Given the description of an element on the screen output the (x, y) to click on. 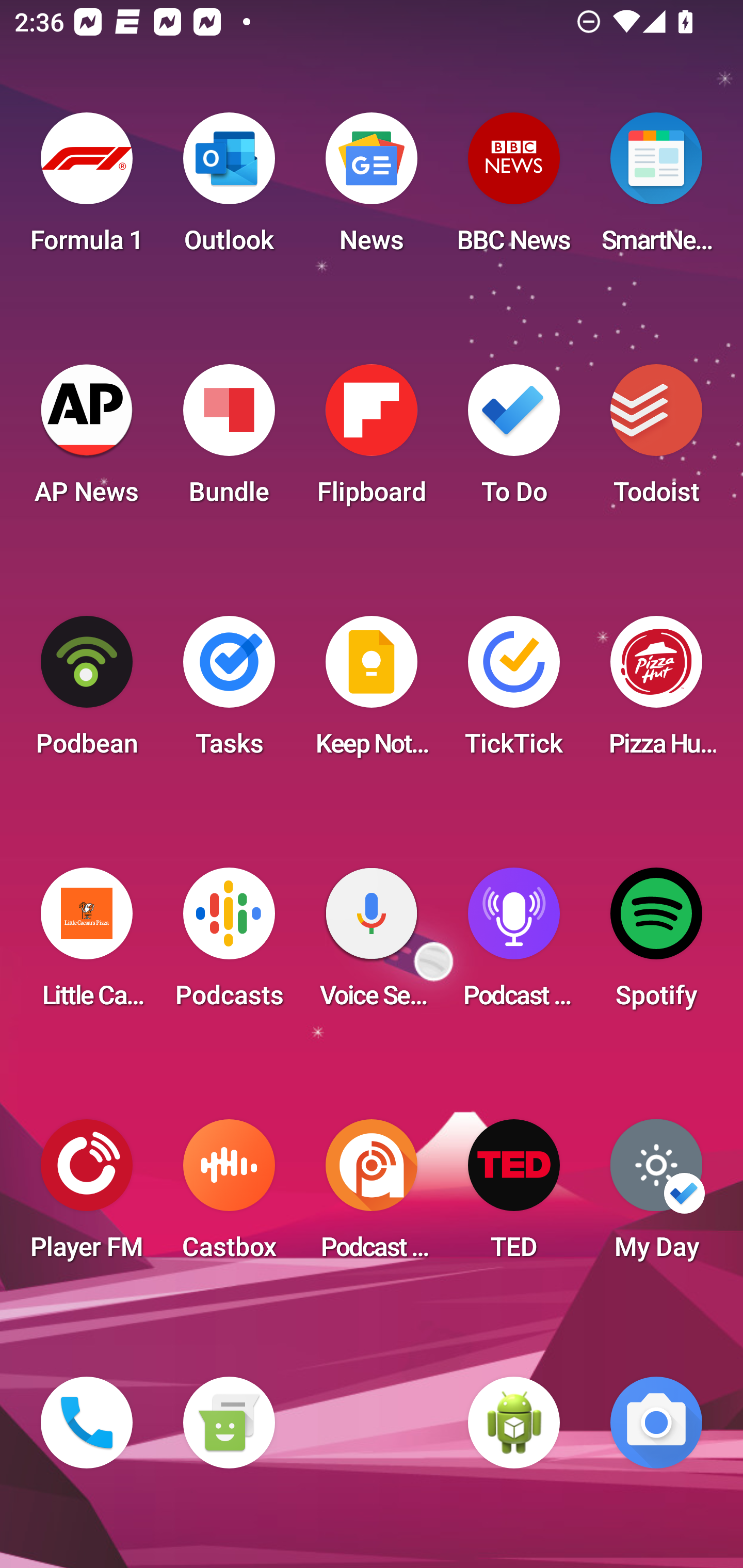
Formula 1 (86, 188)
Outlook (228, 188)
News (371, 188)
BBC News (513, 188)
SmartNews (656, 188)
AP News (86, 440)
Bundle (228, 440)
Flipboard (371, 440)
To Do (513, 440)
Todoist (656, 440)
Podbean (86, 692)
Tasks (228, 692)
Keep Notes (371, 692)
TickTick (513, 692)
Pizza Hut HK & Macau (656, 692)
Little Caesars Pizza (86, 943)
Podcasts (228, 943)
Voice Search (371, 943)
Podcast Player (513, 943)
Spotify (656, 943)
Player FM (86, 1195)
Castbox (228, 1195)
Podcast Addict (371, 1195)
TED (513, 1195)
My Day (656, 1195)
Phone (86, 1422)
Messaging (228, 1422)
WebView Browser Tester (513, 1422)
Camera (656, 1422)
